Given the description of an element on the screen output the (x, y) to click on. 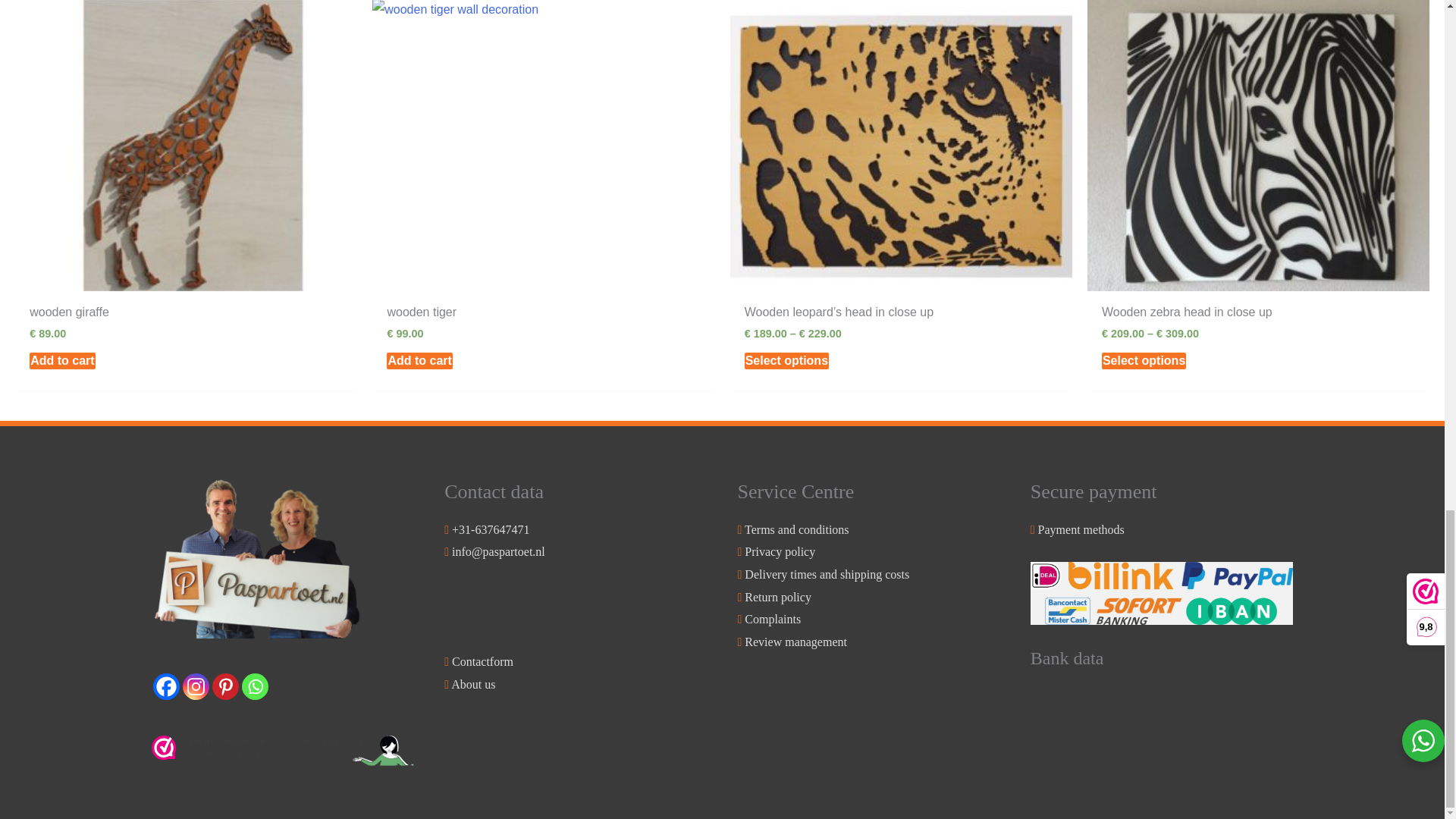
Pinterest (225, 686)
Keurmerk webwinkel (282, 750)
Instagram (196, 686)
Facebook (165, 686)
Whatsapp (254, 686)
